Given the description of an element on the screen output the (x, y) to click on. 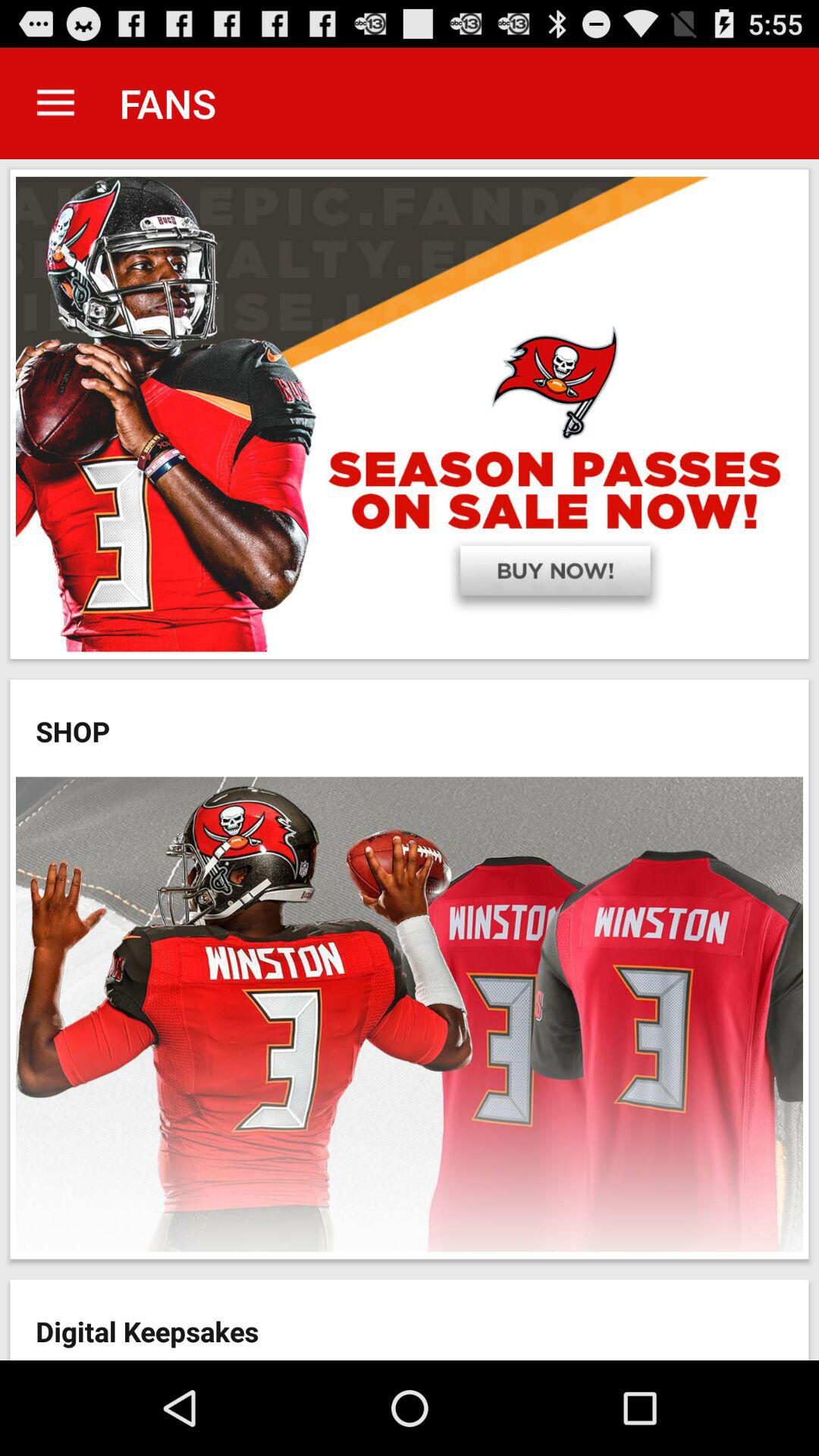
select the icon next to fans app (55, 103)
